Given the description of an element on the screen output the (x, y) to click on. 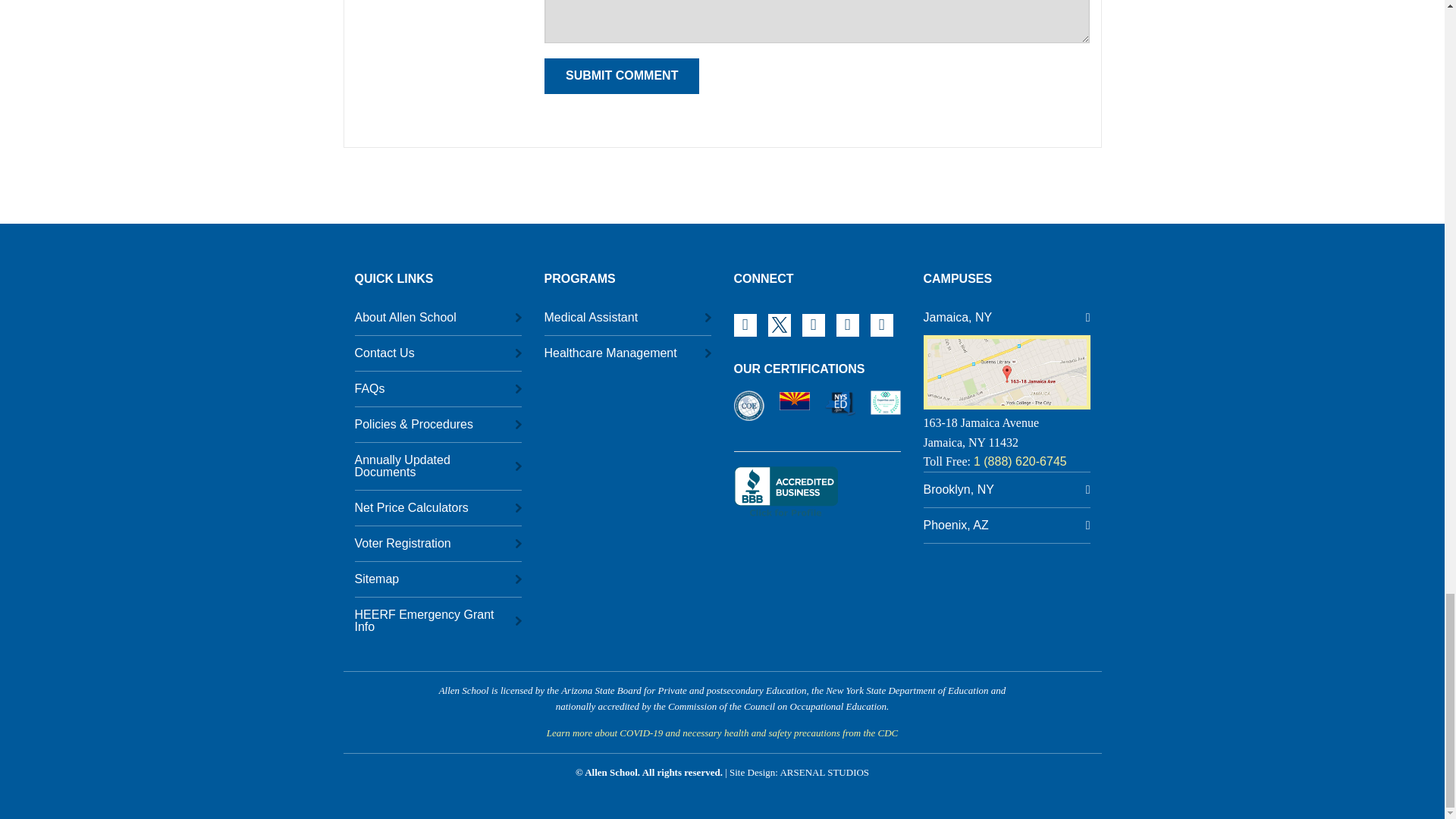
Best Trade Schools in Phoenix (885, 400)
Submit Comment (621, 76)
